Given the description of an element on the screen output the (x, y) to click on. 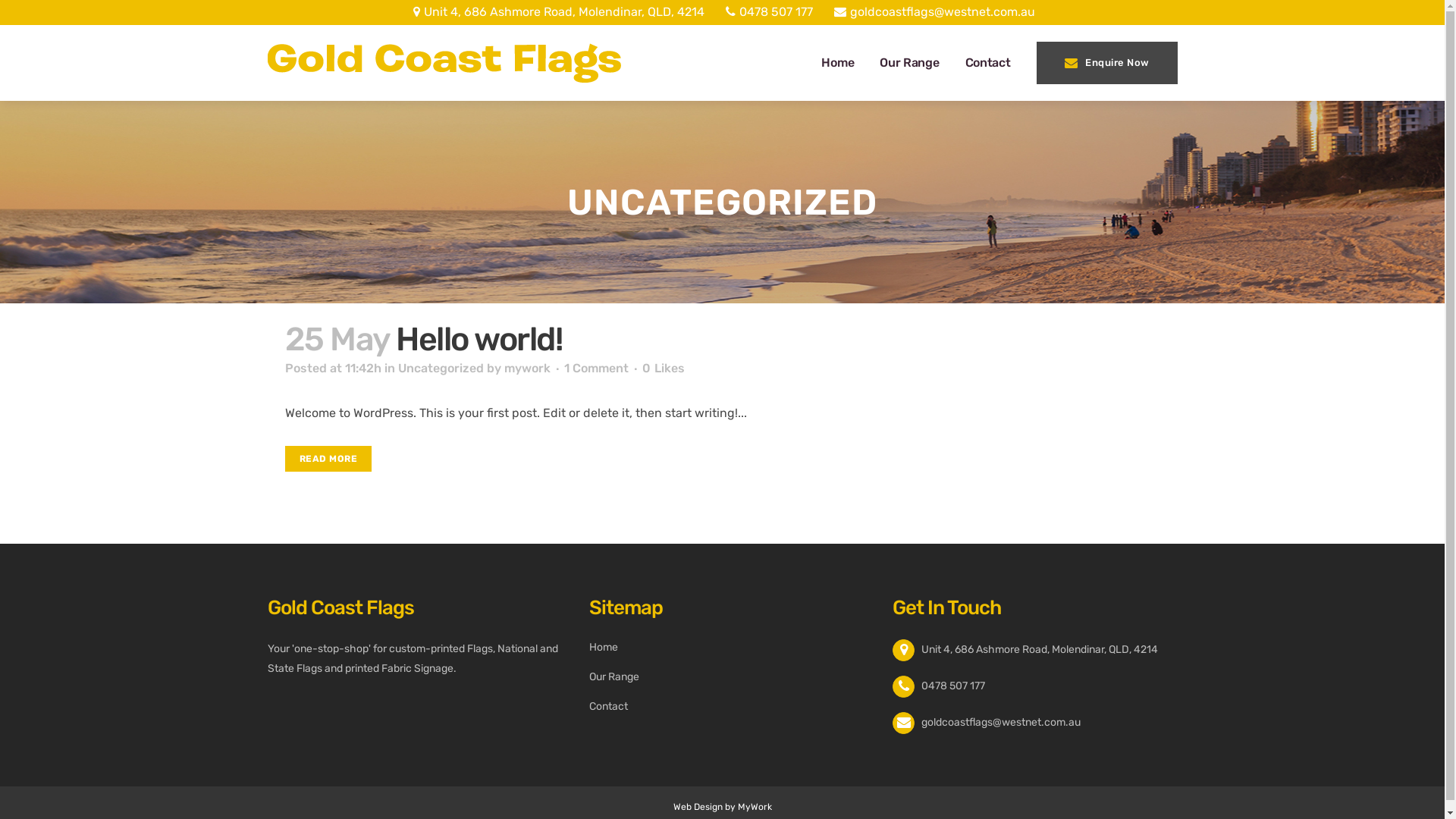
0478 507 177 Element type: text (953, 685)
0478 507 177 Element type: text (768, 11)
Contact Element type: text (987, 62)
Home Element type: text (837, 62)
READ MORE Element type: text (328, 458)
goldcoastflags@westnet.com.au Element type: text (1000, 721)
goldcoastflags@westnet.com.au Element type: text (934, 11)
Home Element type: text (729, 647)
Our Range Element type: text (908, 62)
1 Comment Element type: text (596, 367)
Enquire Now Element type: text (1105, 62)
Hello world! Element type: text (478, 339)
0 Likes Element type: text (662, 368)
Our Range Element type: text (729, 676)
mywork Element type: text (526, 367)
Contact Element type: text (729, 706)
MyWork Element type: text (754, 805)
Uncategorized Element type: text (440, 367)
